Given the description of an element on the screen output the (x, y) to click on. 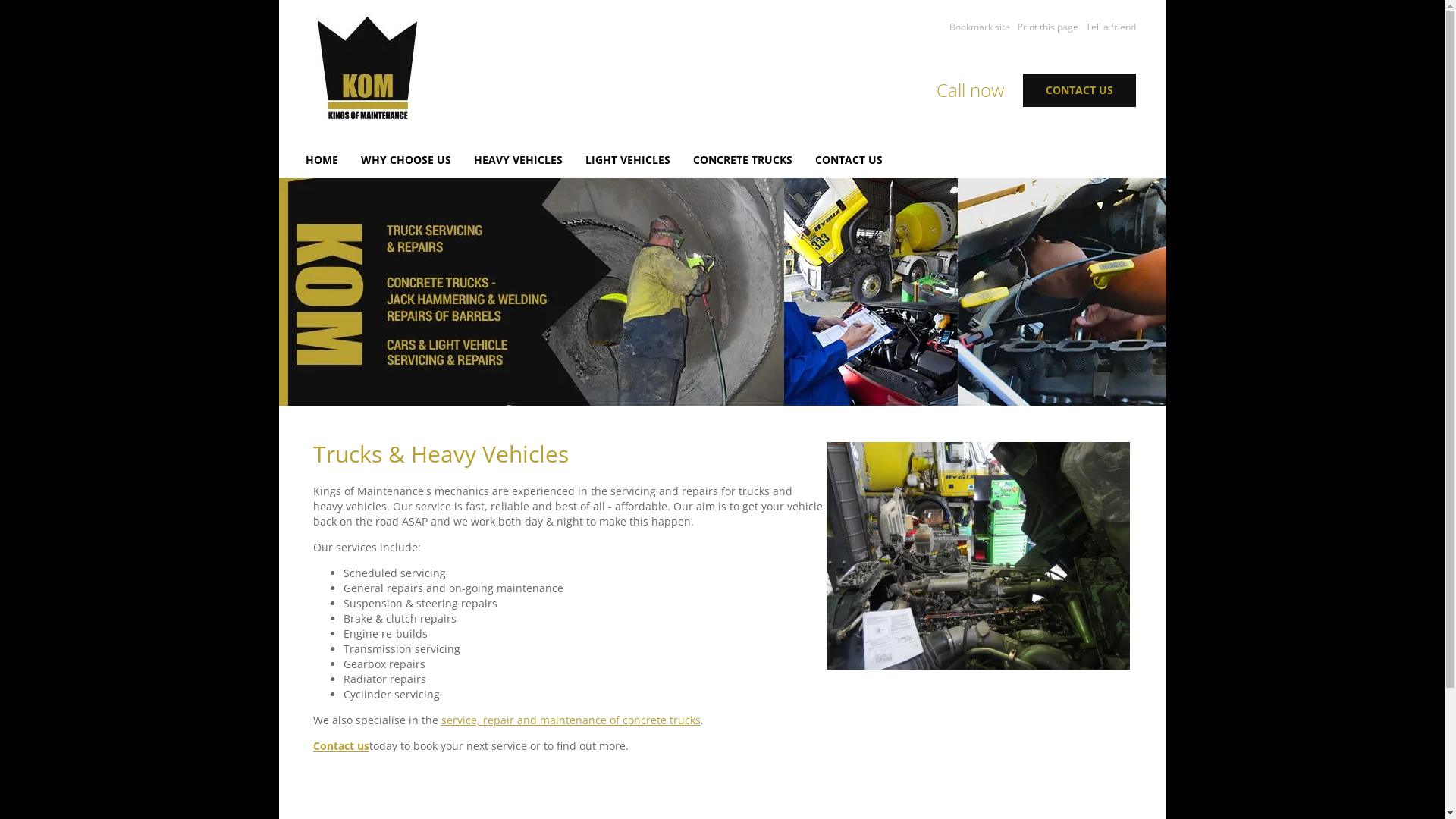
CONTACT US Element type: text (847, 159)
CONTACT US Element type: text (1078, 89)
Print this page Element type: text (1044, 26)
HOME Element type: text (320, 159)
CONCRETE TRUCKS Element type: text (742, 159)
HEAVY VEHICLES Element type: text (517, 159)
Bookmark site Element type: text (975, 26)
service, repair and maintenance of concrete trucks Element type: text (570, 719)
Contact us Element type: text (340, 745)
Tell a friend Element type: text (1106, 26)
WHY CHOOSE US Element type: text (405, 159)
LIGHT VEHICLES Element type: text (627, 159)
